Given the description of an element on the screen output the (x, y) to click on. 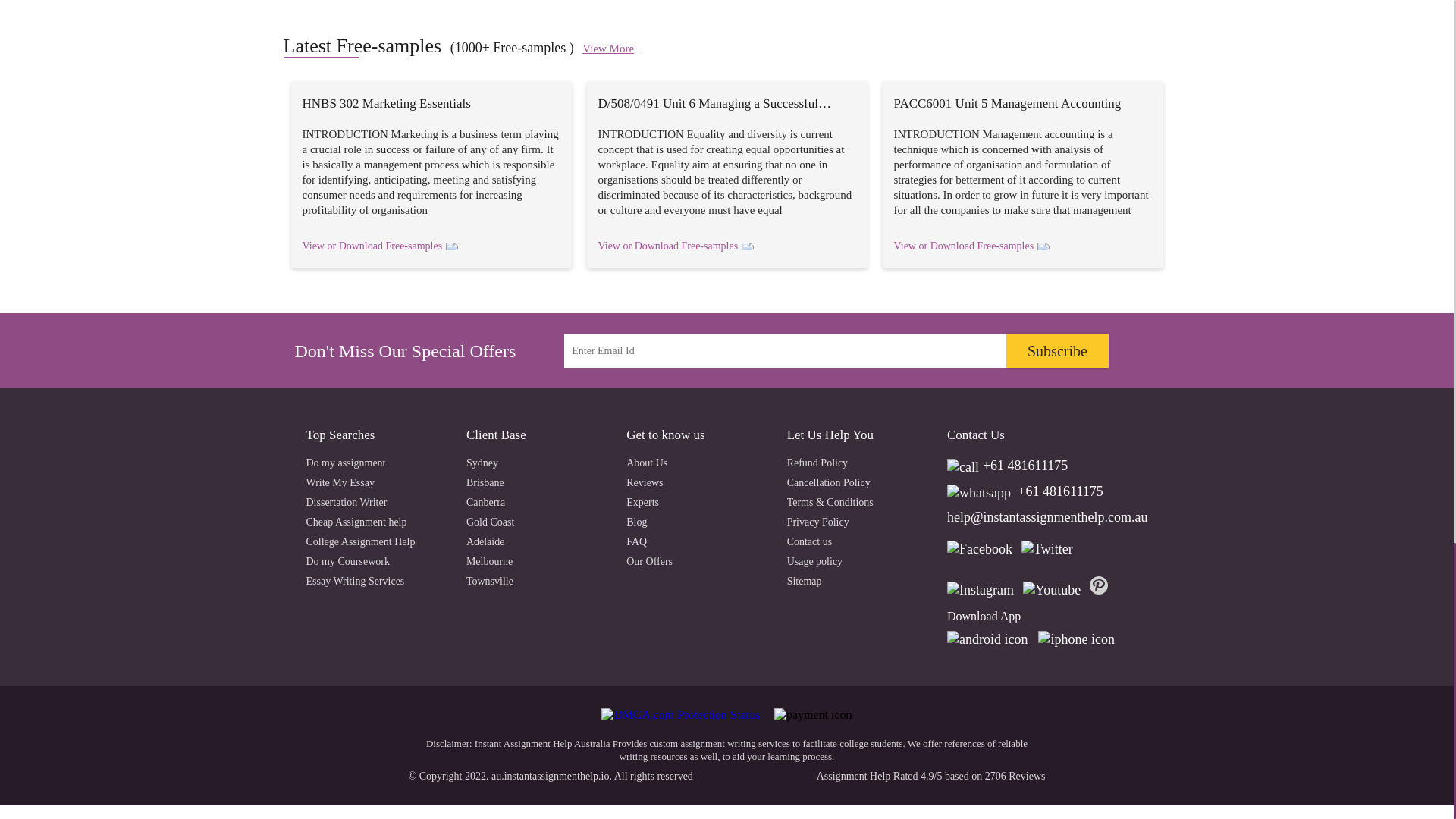
Download Our Andriod App (991, 635)
DMCA.com Protection Status (681, 714)
Download IOS App (1079, 635)
